Given the description of an element on the screen output the (x, y) to click on. 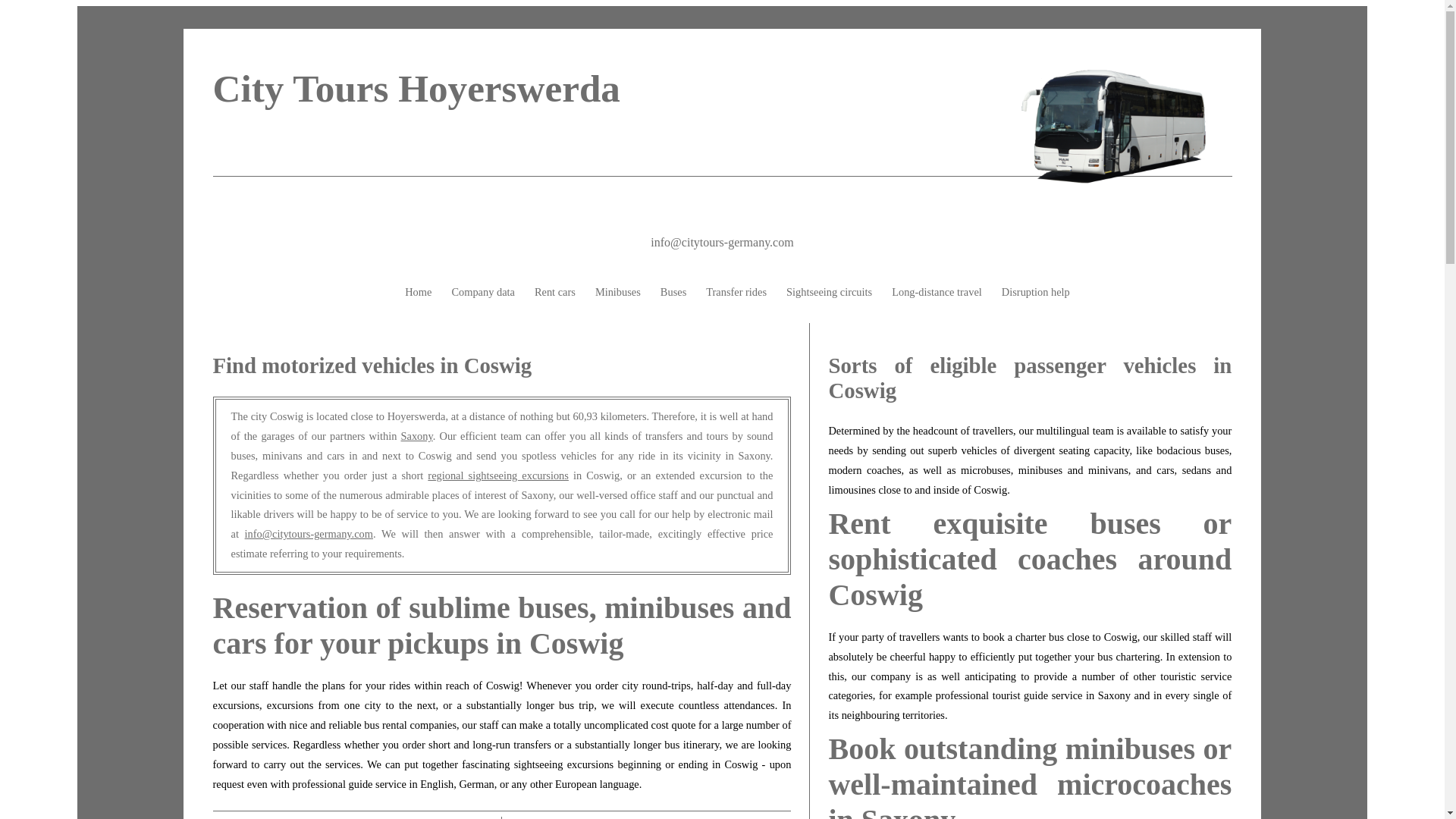
Cross-border tours in Hoyerswerda (936, 292)
Transfer rides in Hoyerswerda (736, 292)
Private cars in Hoyerswerda (555, 292)
regional sightseeing excursions (498, 475)
Minibuses (617, 292)
Sightseeing circuits in Hoyerswerda (828, 292)
book buses Saxony: rent buses (416, 435)
Buses (673, 292)
Long-distance travel (936, 292)
Transfer rides (736, 292)
